Given the description of an element on the screen output the (x, y) to click on. 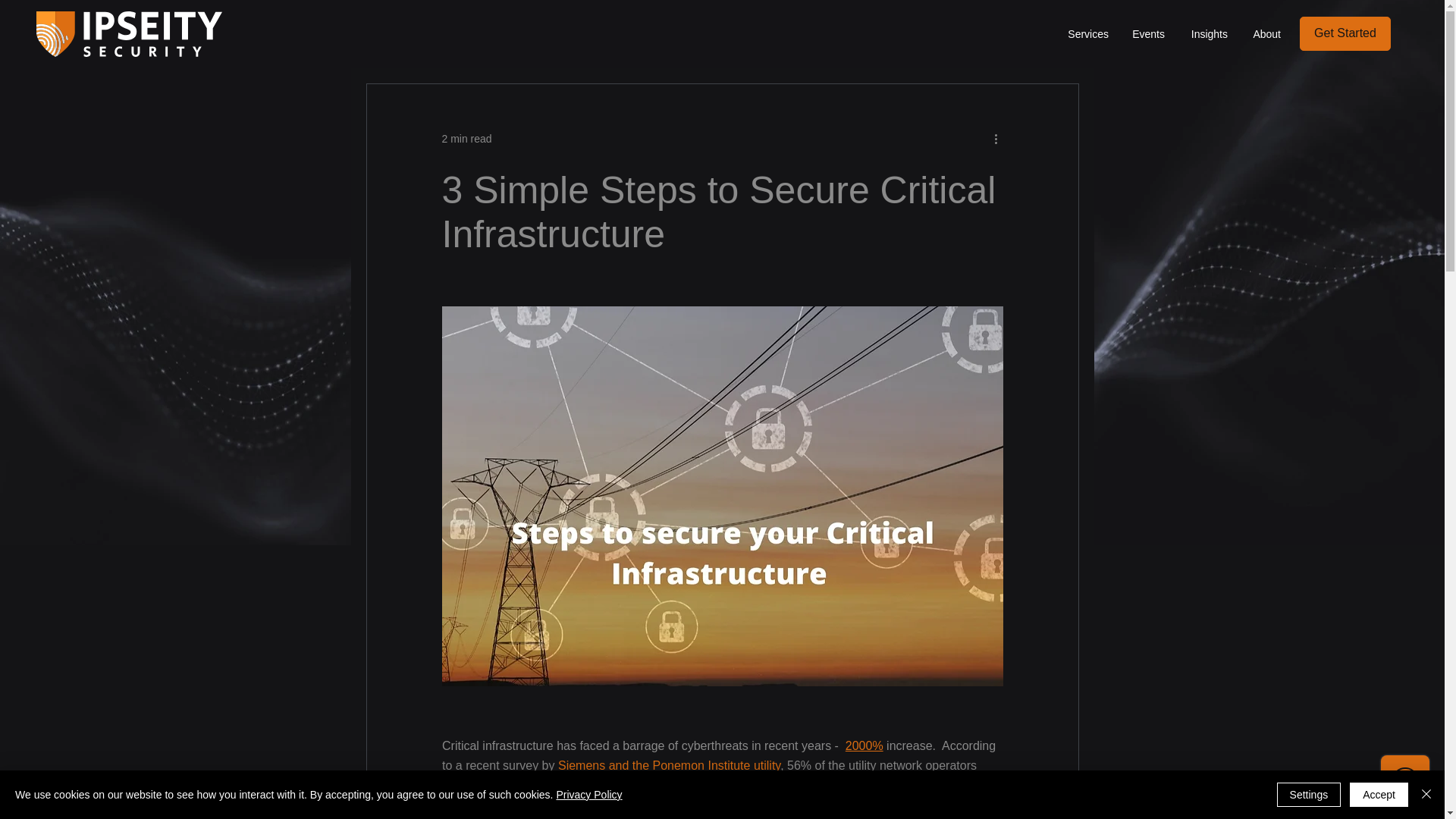
Siemens and the Ponemon Institute utility (667, 765)
Insights (1207, 34)
Events (1147, 34)
About (1265, 34)
2 min read (466, 137)
Get Started (1345, 33)
Services (1087, 34)
